Given the description of an element on the screen output the (x, y) to click on. 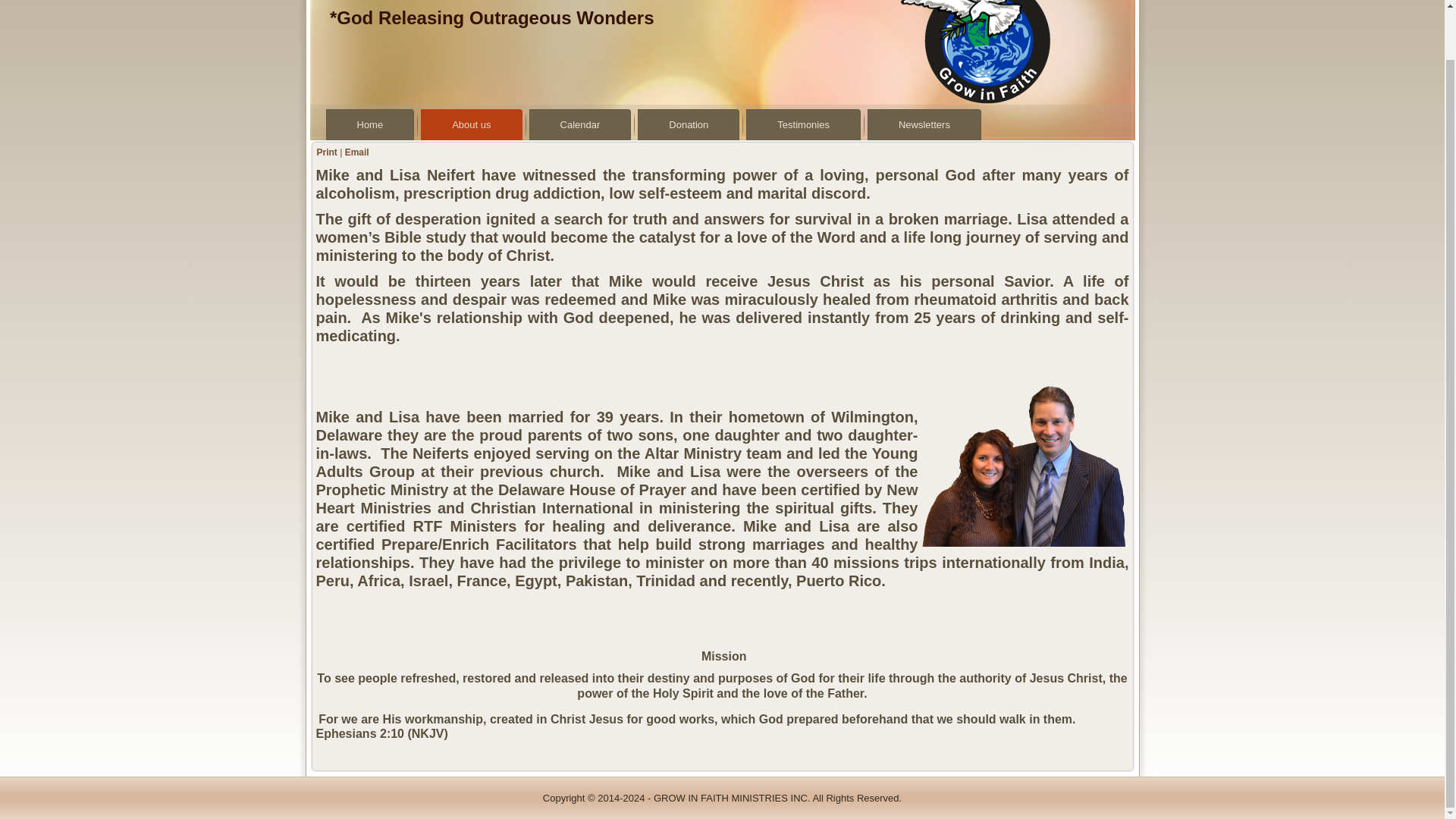
Testimonies (802, 124)
Newsletters (924, 124)
Home (370, 124)
Email this link to a friend (357, 152)
About us (470, 124)
Print (327, 152)
Donation (688, 124)
Calendar (580, 124)
Email (357, 152)
